Given the description of an element on the screen output the (x, y) to click on. 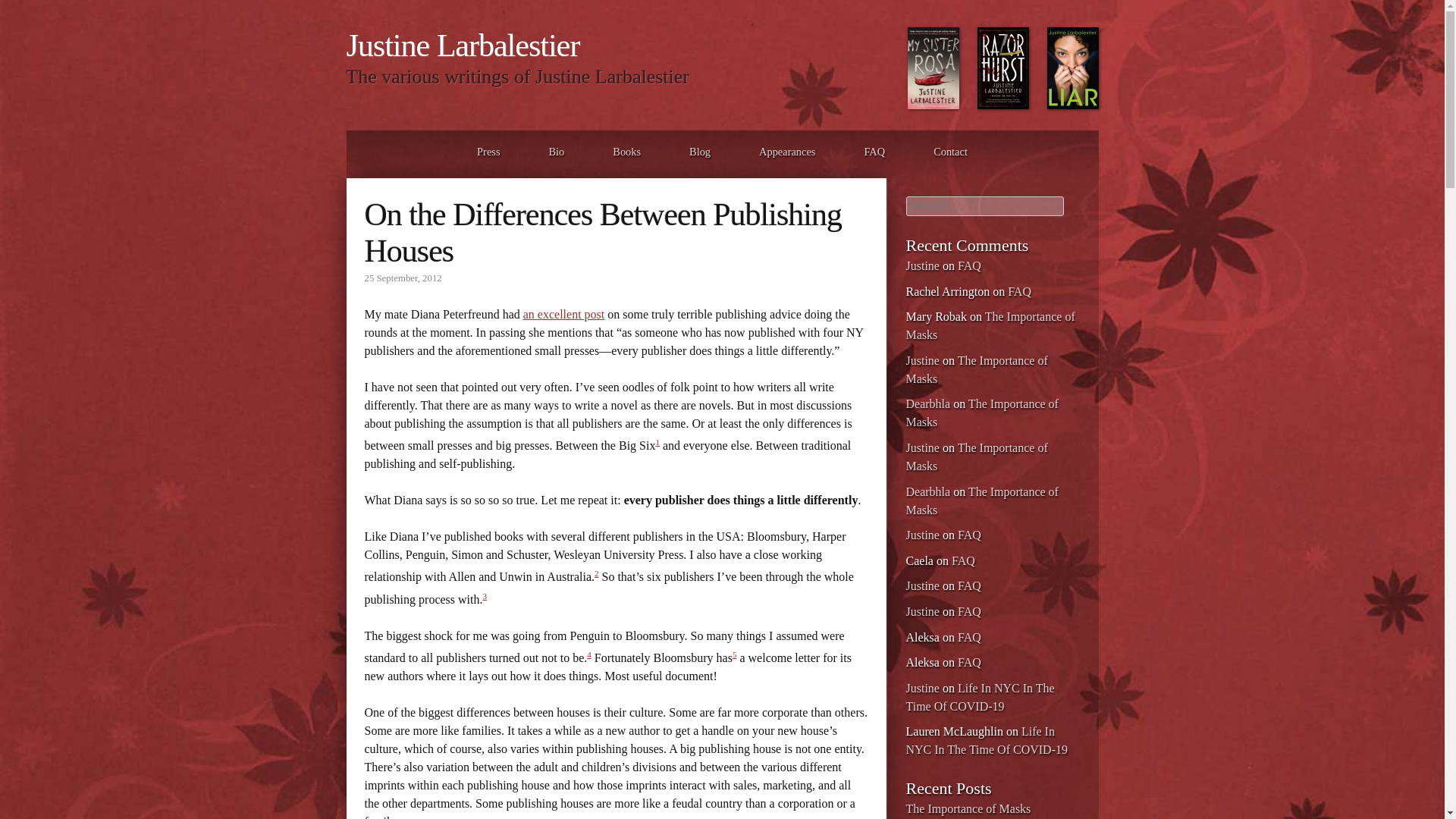
Blog (699, 151)
Appearances (786, 151)
Books (626, 151)
Bio (556, 151)
Justine Larbalestier (462, 45)
Press (488, 151)
Justine Larbalestier (462, 45)
Skip to content (382, 151)
Skip to content (382, 151)
